Given the description of an element on the screen output the (x, y) to click on. 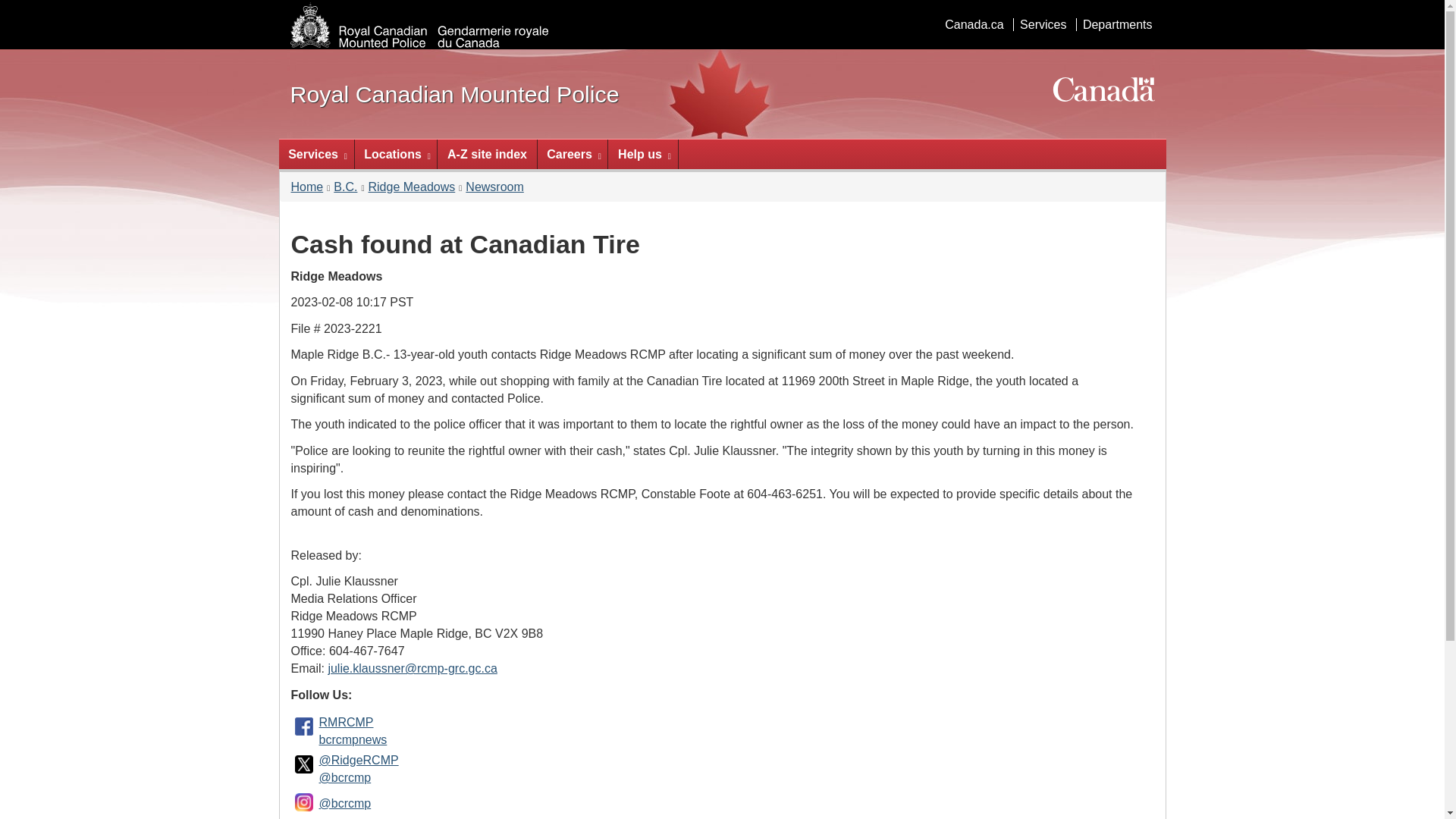
Services (1042, 24)
Skip to main content (725, 11)
Departments (1116, 24)
Canada.ca (974, 24)
